Given the description of an element on the screen output the (x, y) to click on. 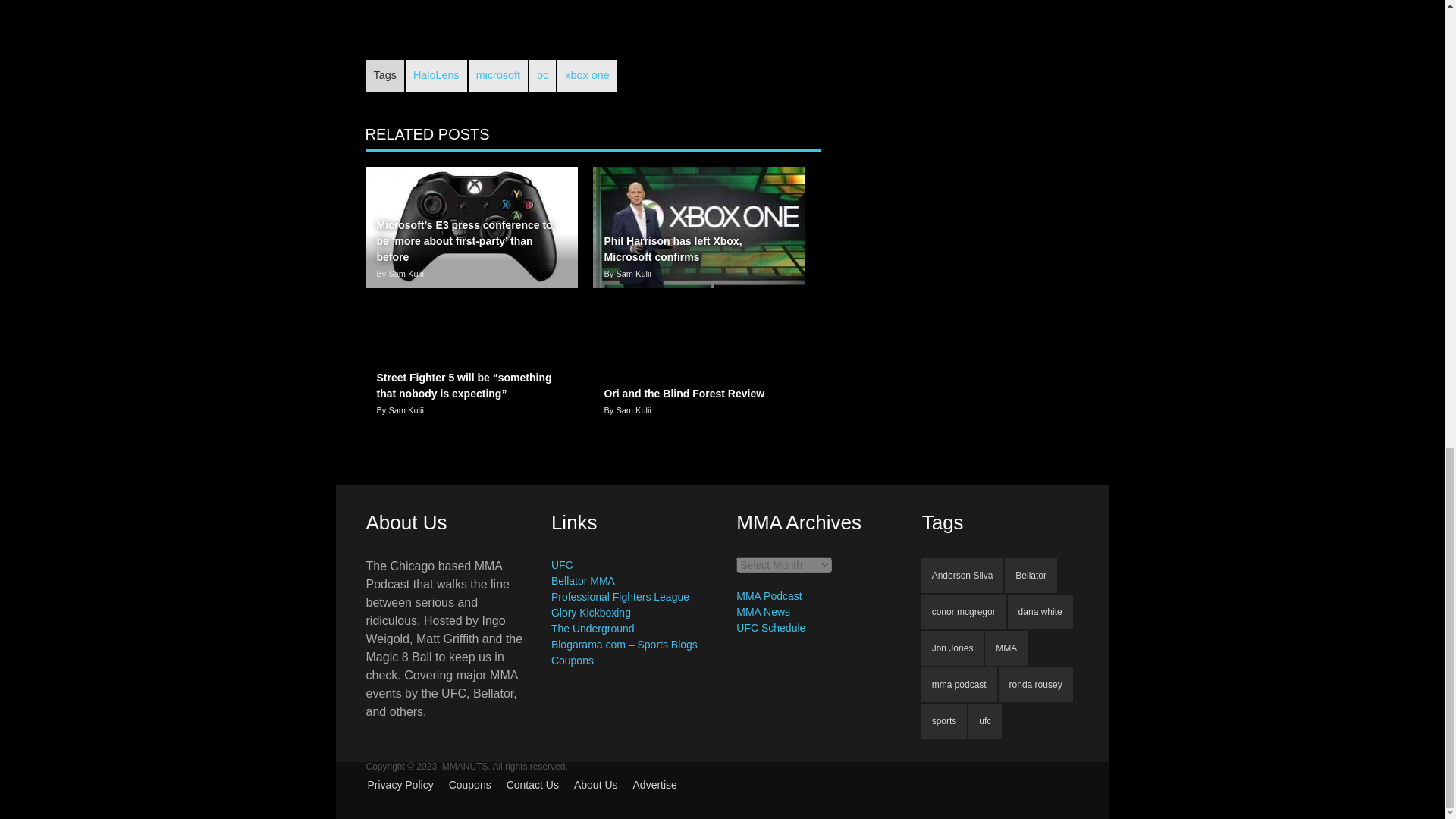
microsoft (497, 75)
HaloLens (436, 75)
xbox one (586, 75)
pc (542, 75)
